Given the description of an element on the screen output the (x, y) to click on. 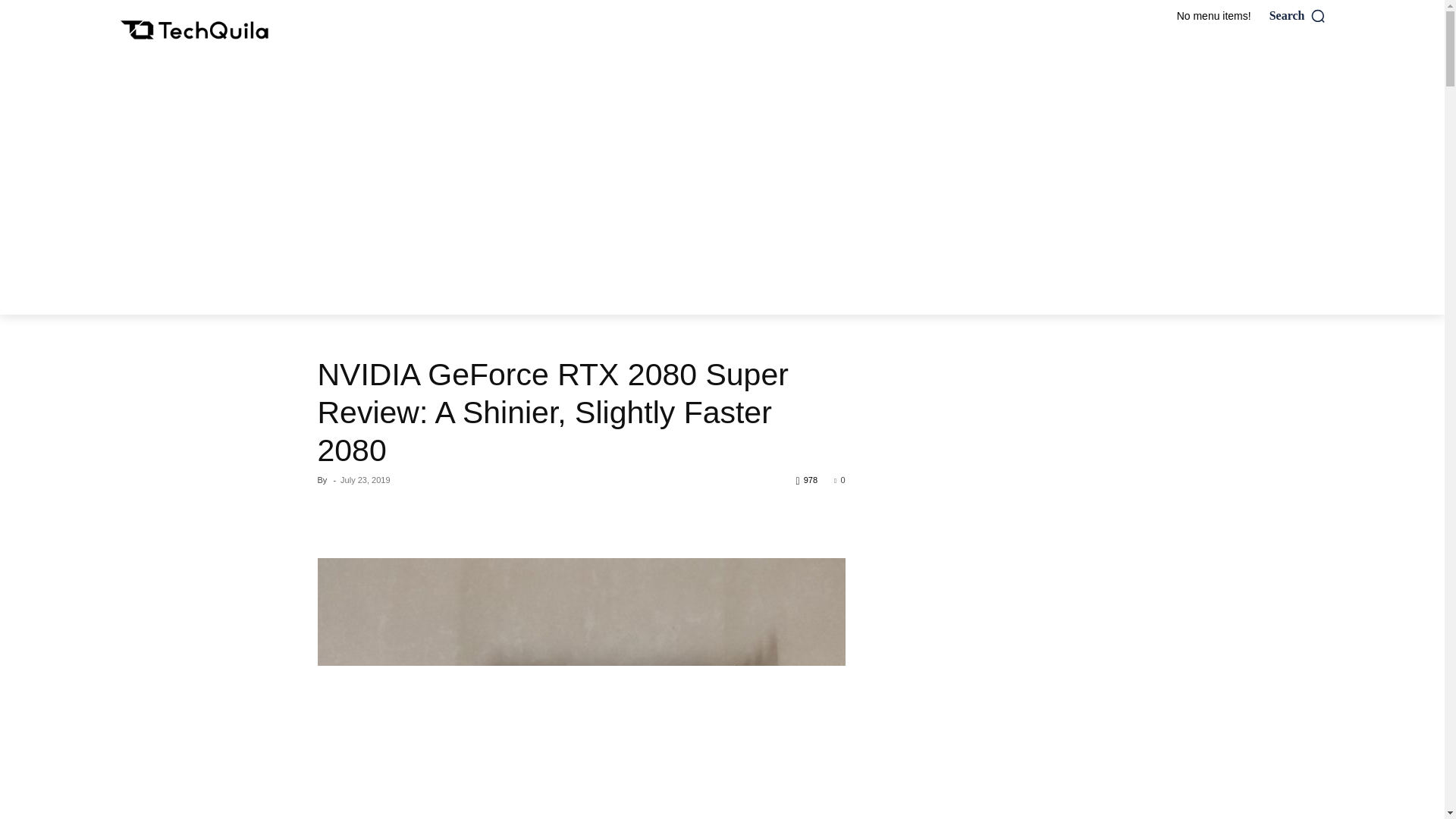
Search (1297, 15)
0 (839, 479)
